Given the description of an element on the screen output the (x, y) to click on. 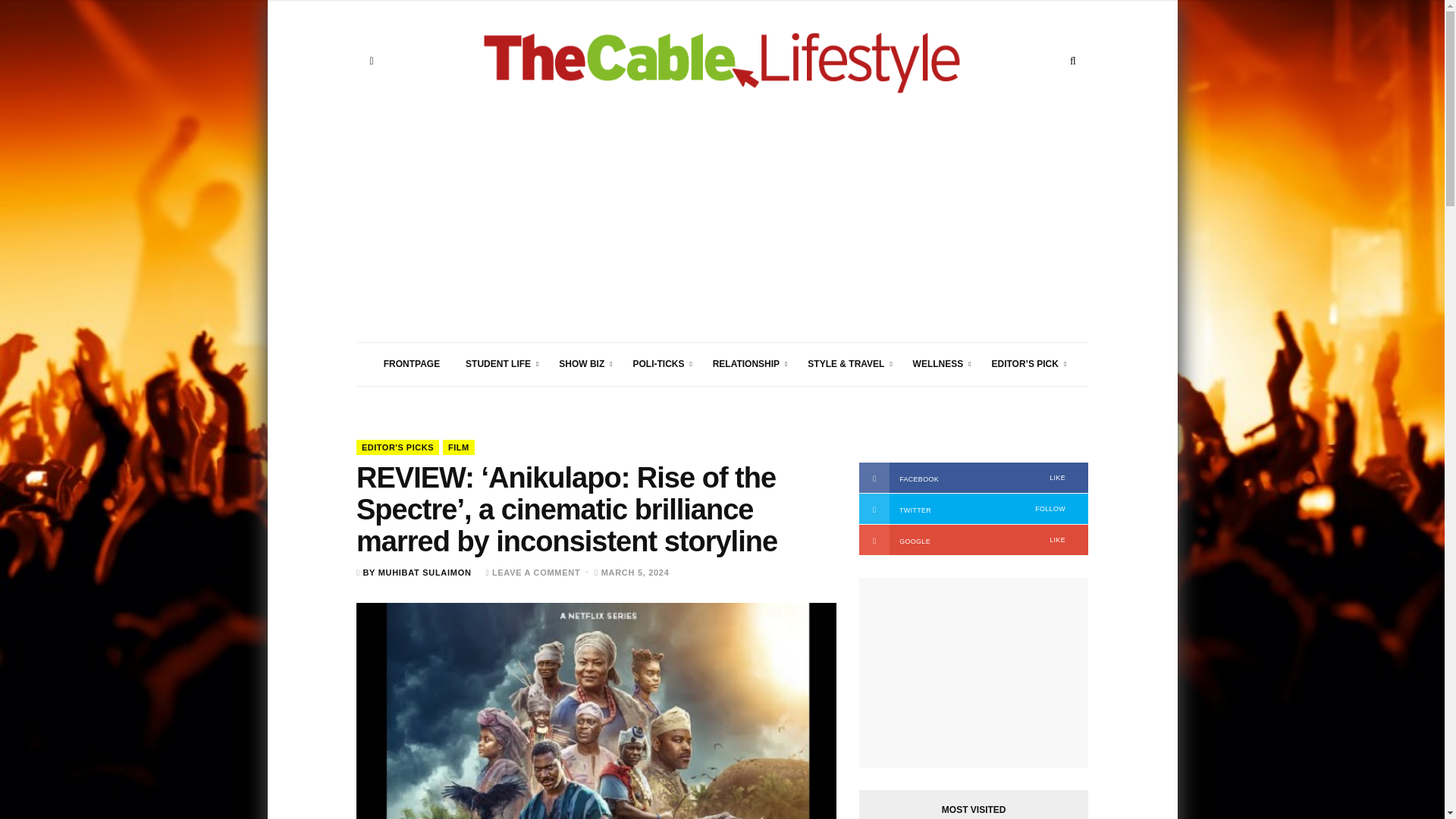
SHOW BIZ (582, 364)
Advertisement (721, 235)
FRONTPAGE (411, 364)
STUDENT LIFE (499, 364)
Search (1072, 60)
